Given the description of an element on the screen output the (x, y) to click on. 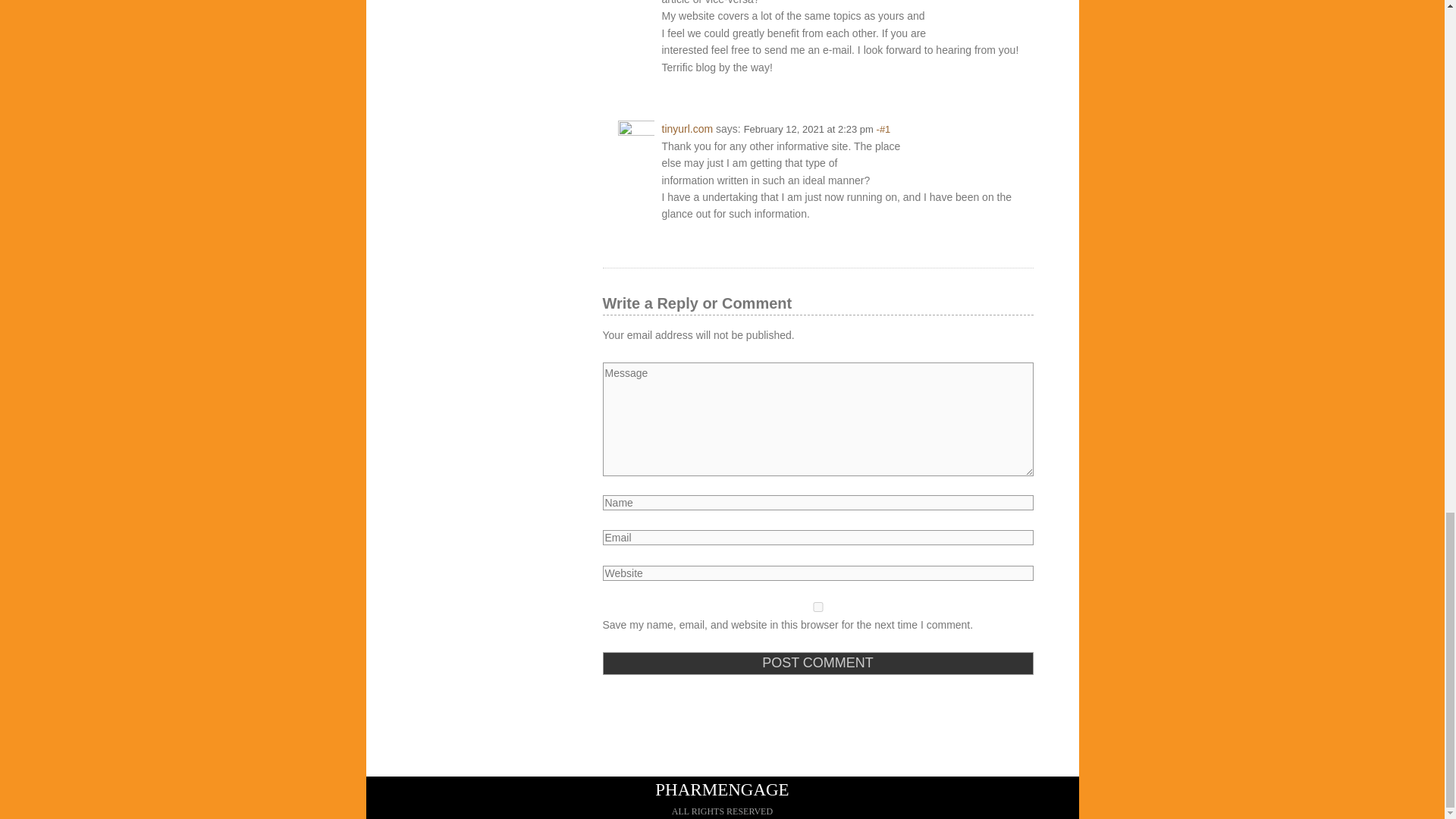
Reply (1017, 127)
tinyurl.com (687, 128)
yes (817, 606)
Name (817, 502)
Post Comment (817, 662)
Website (817, 572)
Email (817, 537)
